Given the description of an element on the screen output the (x, y) to click on. 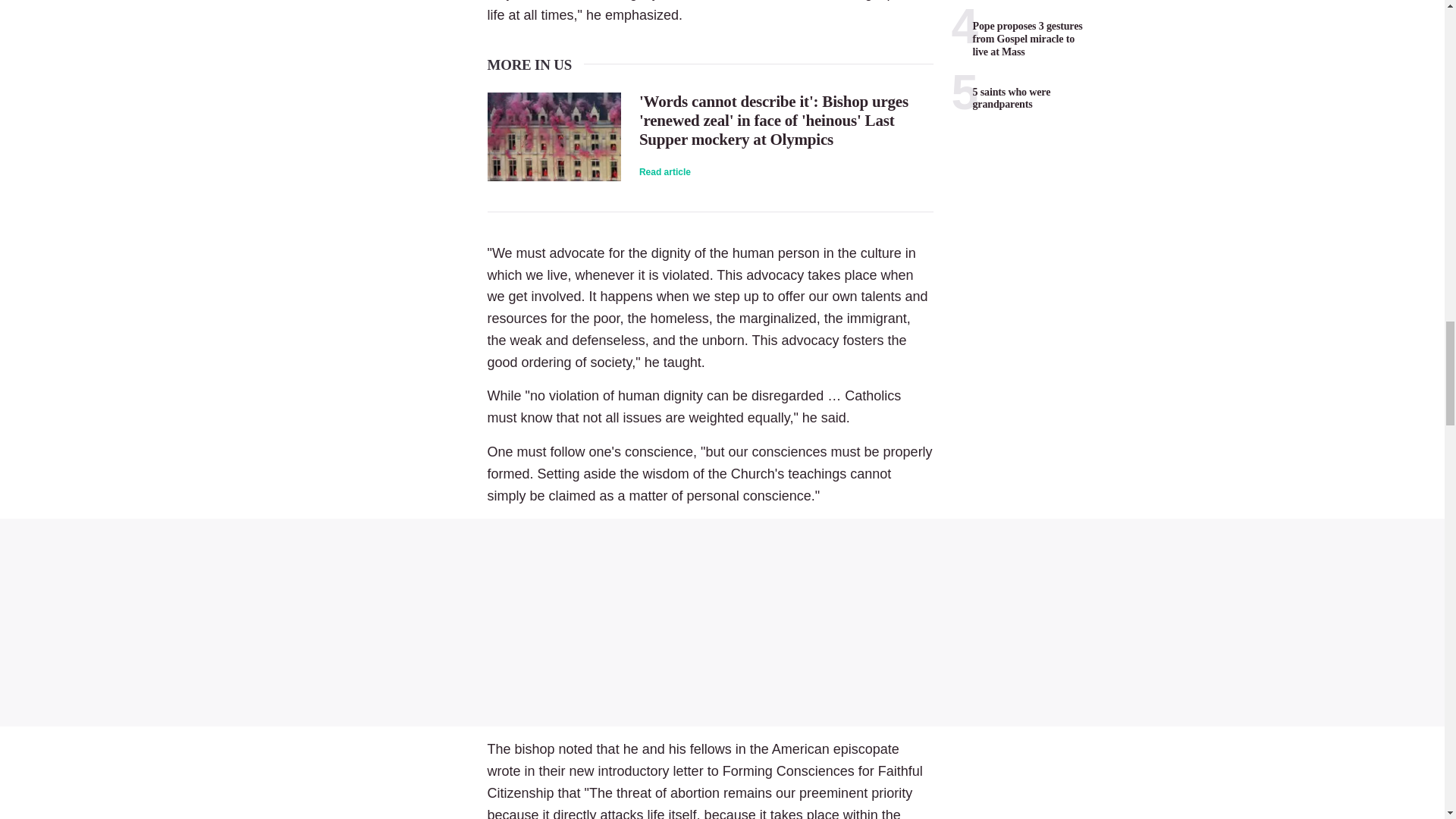
3rd party ad content (721, 622)
